Given the description of an element on the screen output the (x, y) to click on. 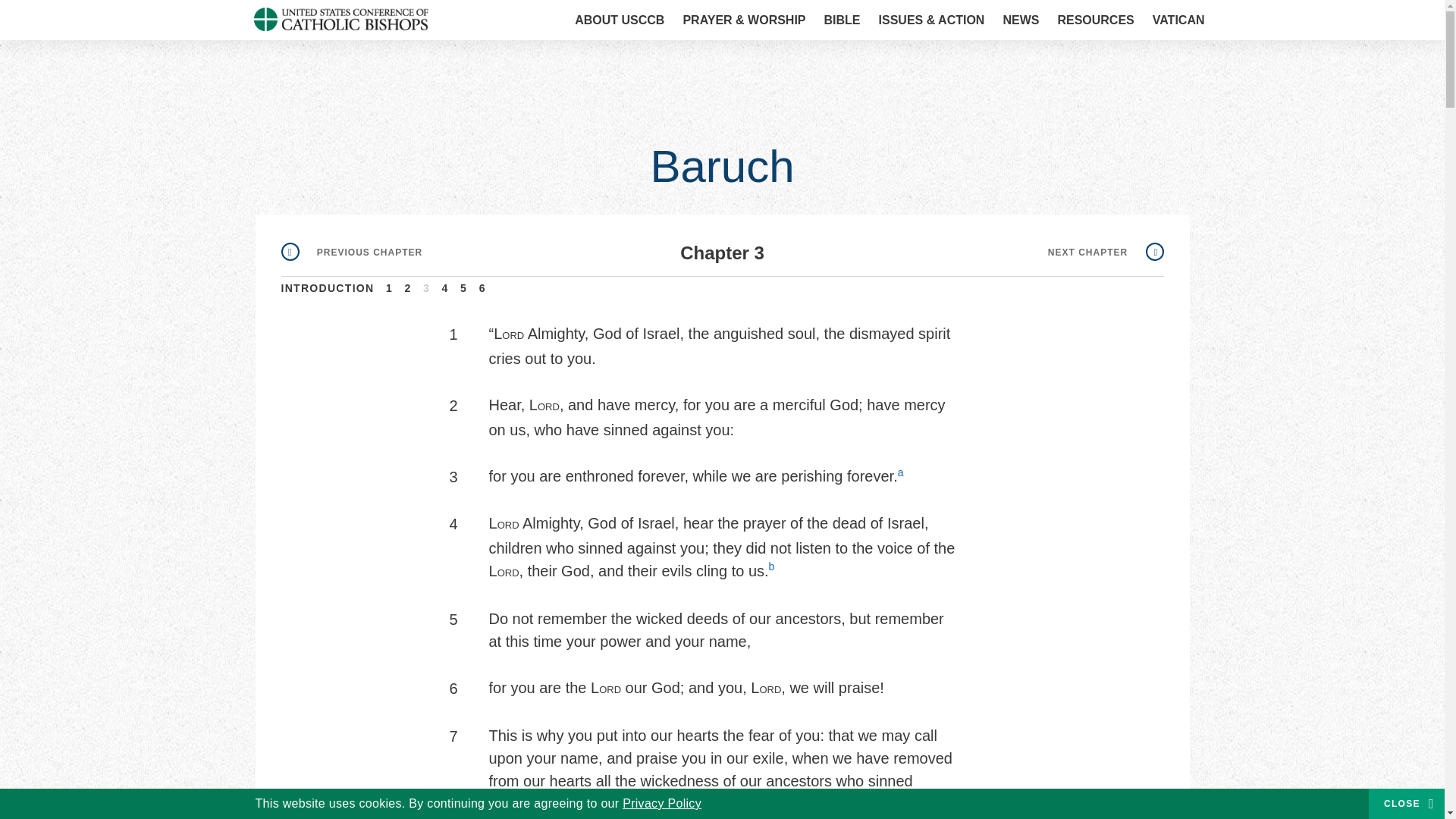
Go (1173, 21)
Link list for Vatican website (1178, 20)
Go to next page (1105, 252)
Go to previous page (351, 252)
